Given the description of an element on the screen output the (x, y) to click on. 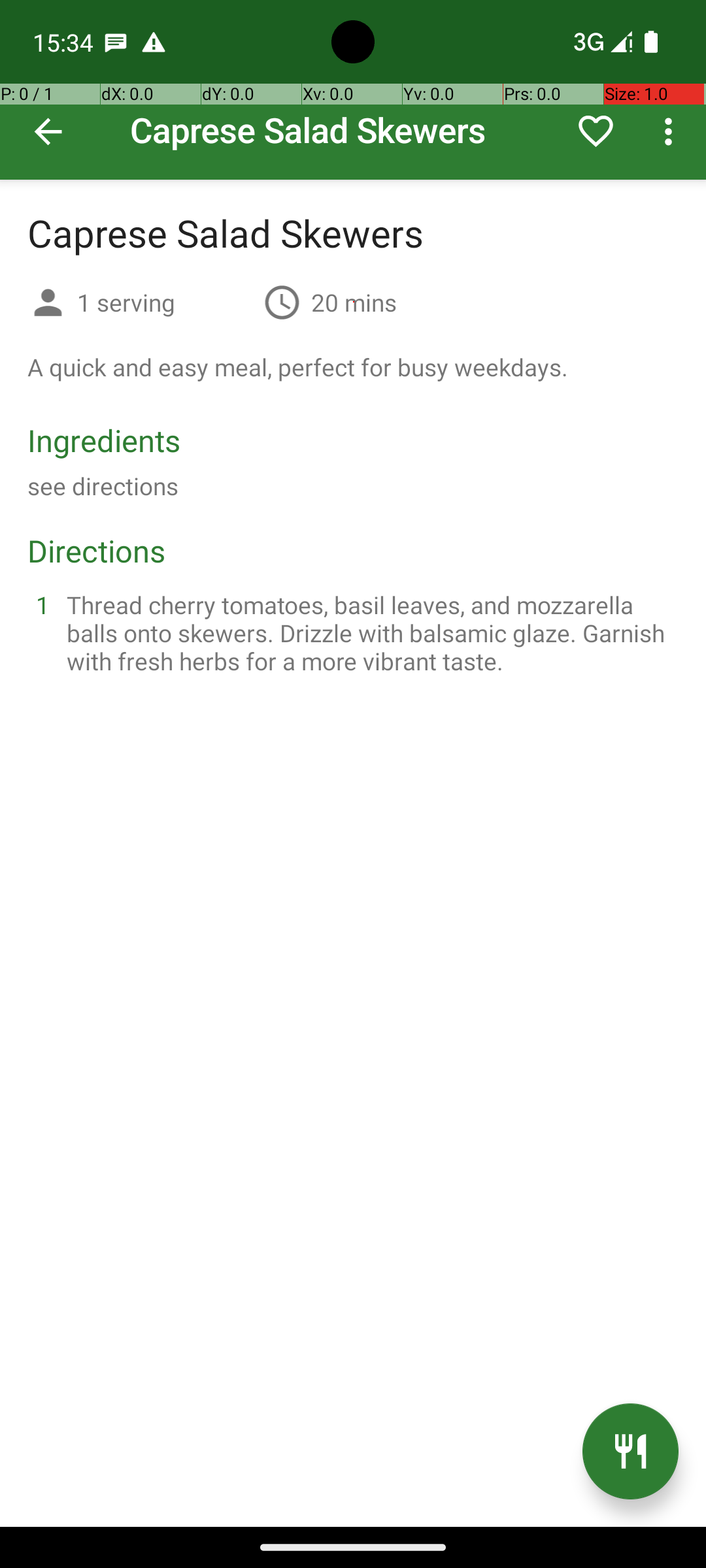
Thread cherry tomatoes, basil leaves, and mozzarella balls onto skewers. Drizzle with balsamic glaze. Garnish with fresh herbs for a more vibrant taste. Element type: android.widget.TextView (368, 632)
